Given the description of an element on the screen output the (x, y) to click on. 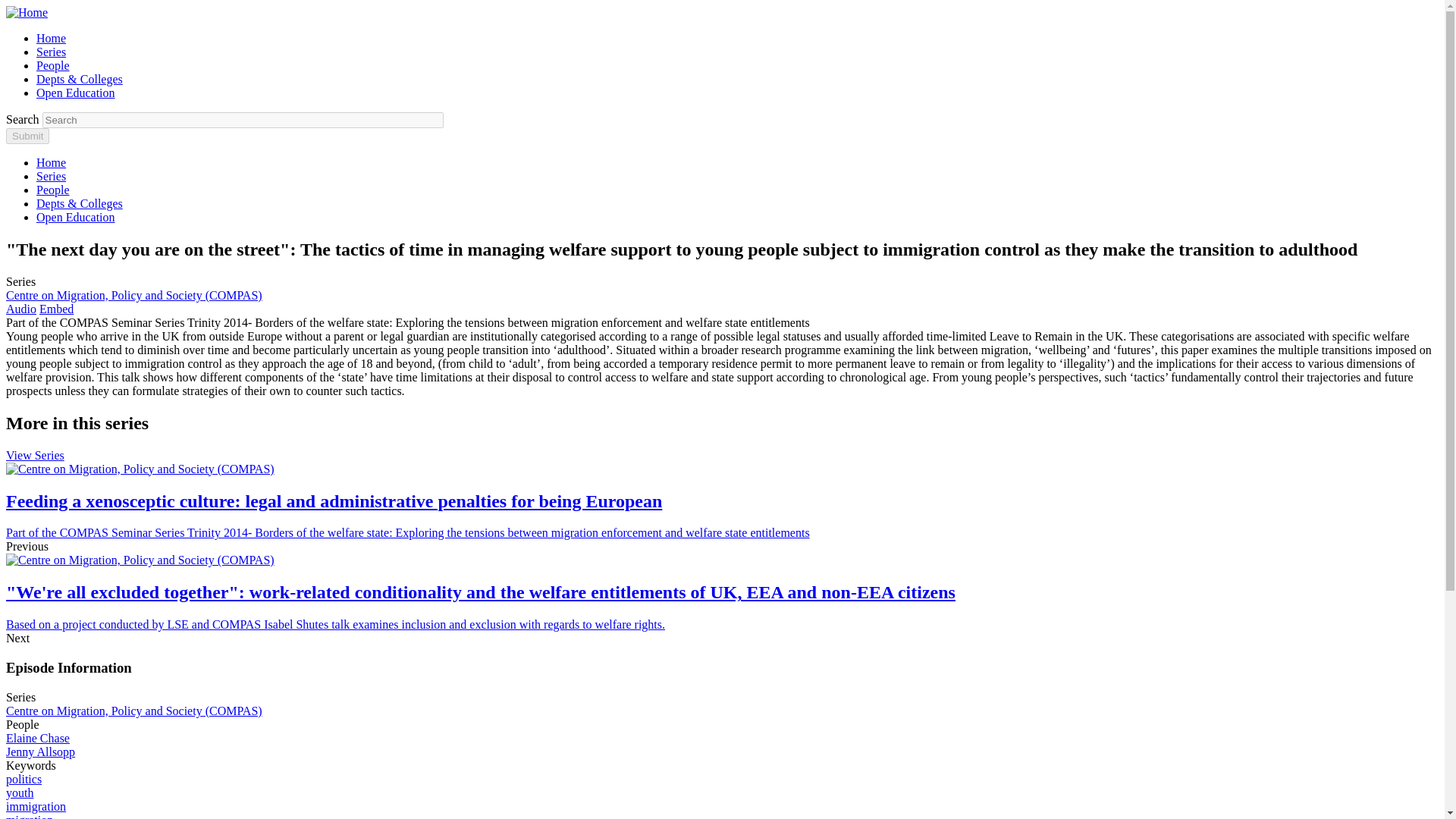
immigration (35, 806)
Audio (20, 308)
Series (50, 51)
People (52, 65)
Embed (56, 308)
Open Education (75, 92)
migration (28, 816)
Submit (27, 135)
People (52, 189)
youth (19, 792)
Series (50, 175)
Jenny Allsopp (40, 751)
View Series (34, 454)
Home (50, 38)
